Given the description of an element on the screen output the (x, y) to click on. 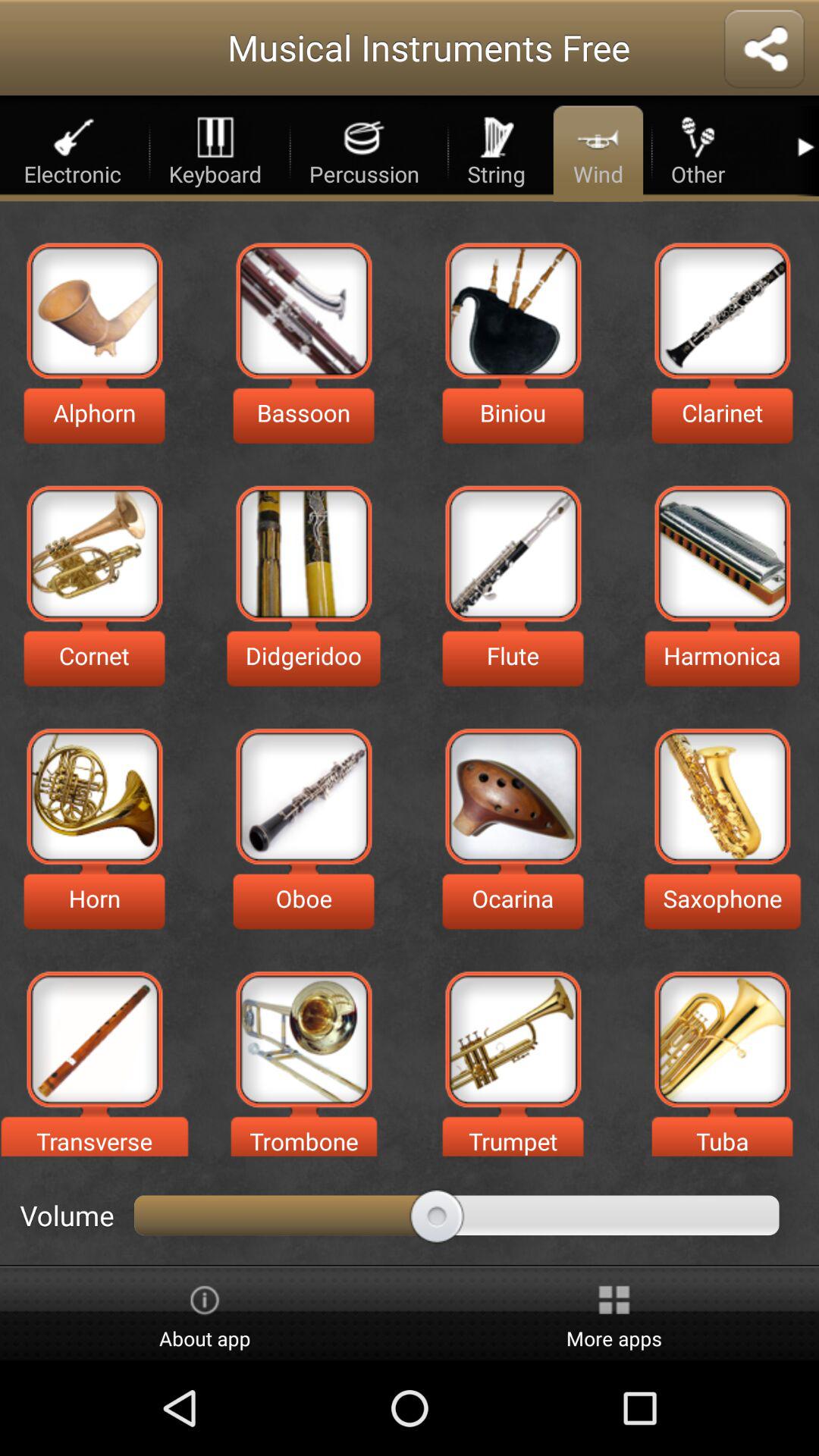
choose the selection (303, 1039)
